Given the description of an element on the screen output the (x, y) to click on. 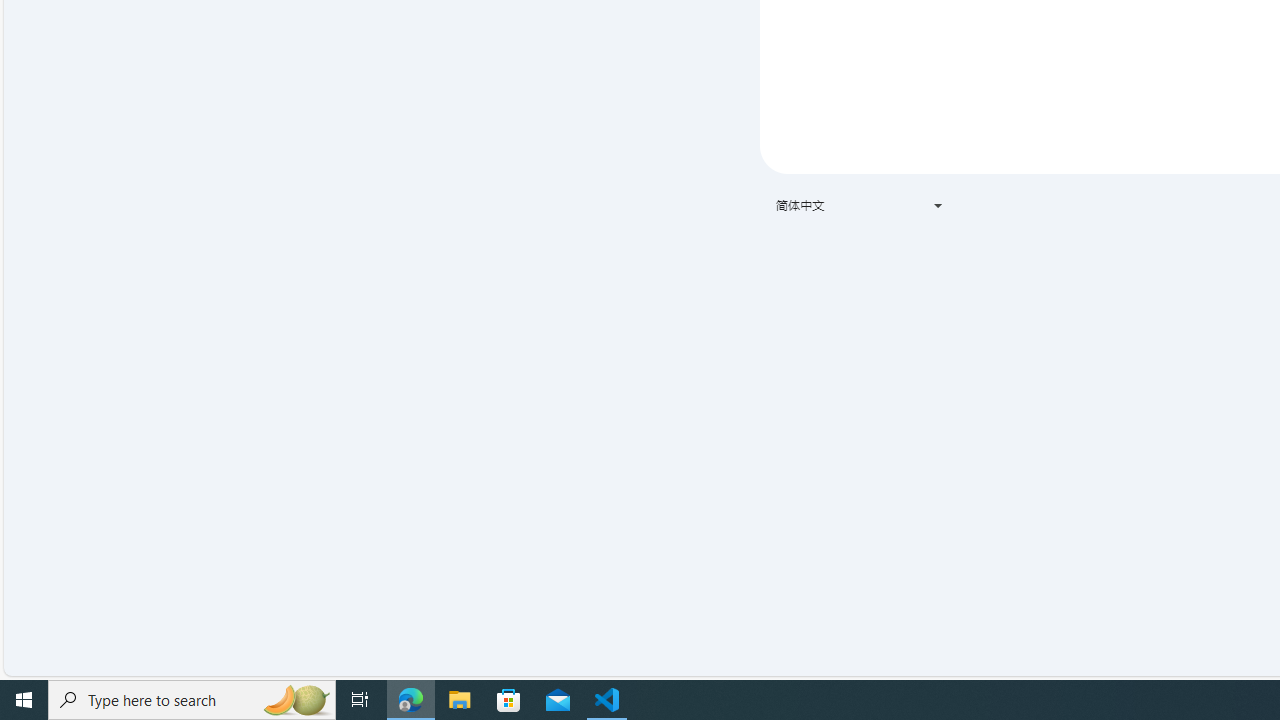
Class: VfPpkd-t08AT-Bz112c-Bd00G (938, 205)
